Given the description of an element on the screen output the (x, y) to click on. 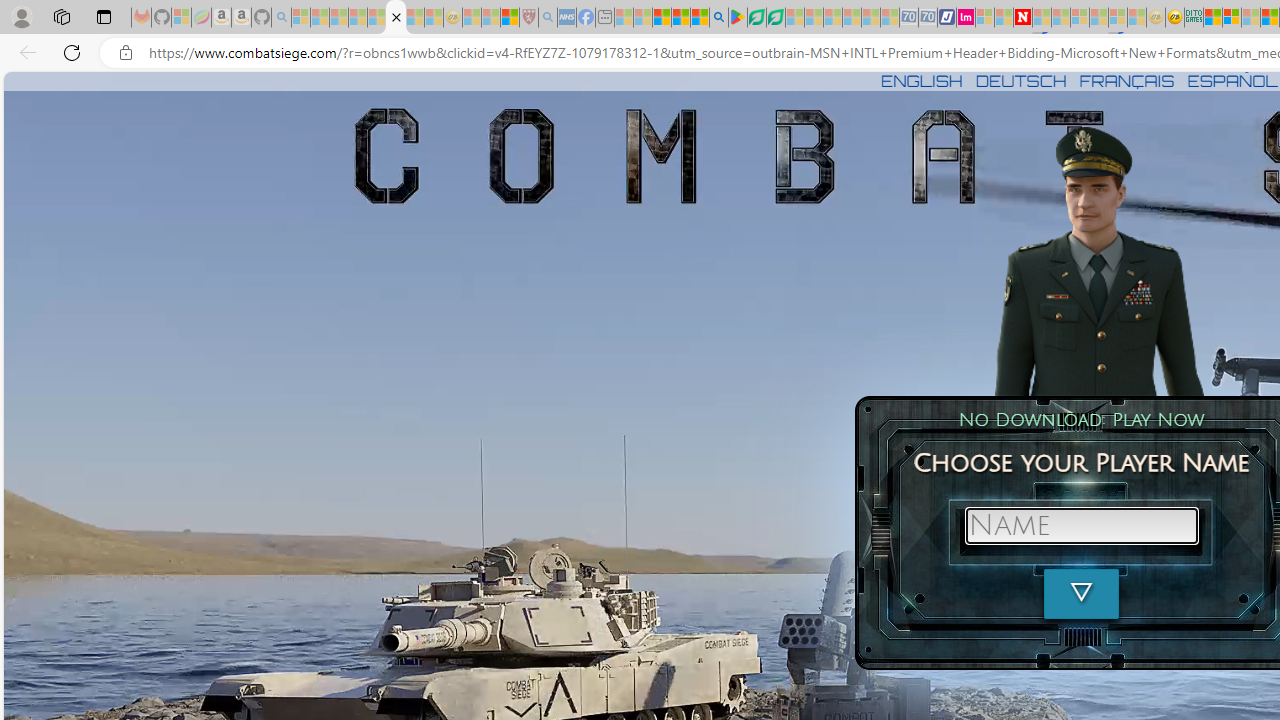
New tab - Sleeping (605, 17)
Cheap Car Rentals - Save70.com - Sleeping (908, 17)
Microsoft-Report a Concern to Bing - Sleeping (180, 17)
Microsoft Word - consumer-privacy address update 2.2021 (775, 17)
Terms of Use Agreement (756, 17)
Recipes - MSN - Sleeping (472, 17)
Combat Siege (395, 17)
